Given the description of an element on the screen output the (x, y) to click on. 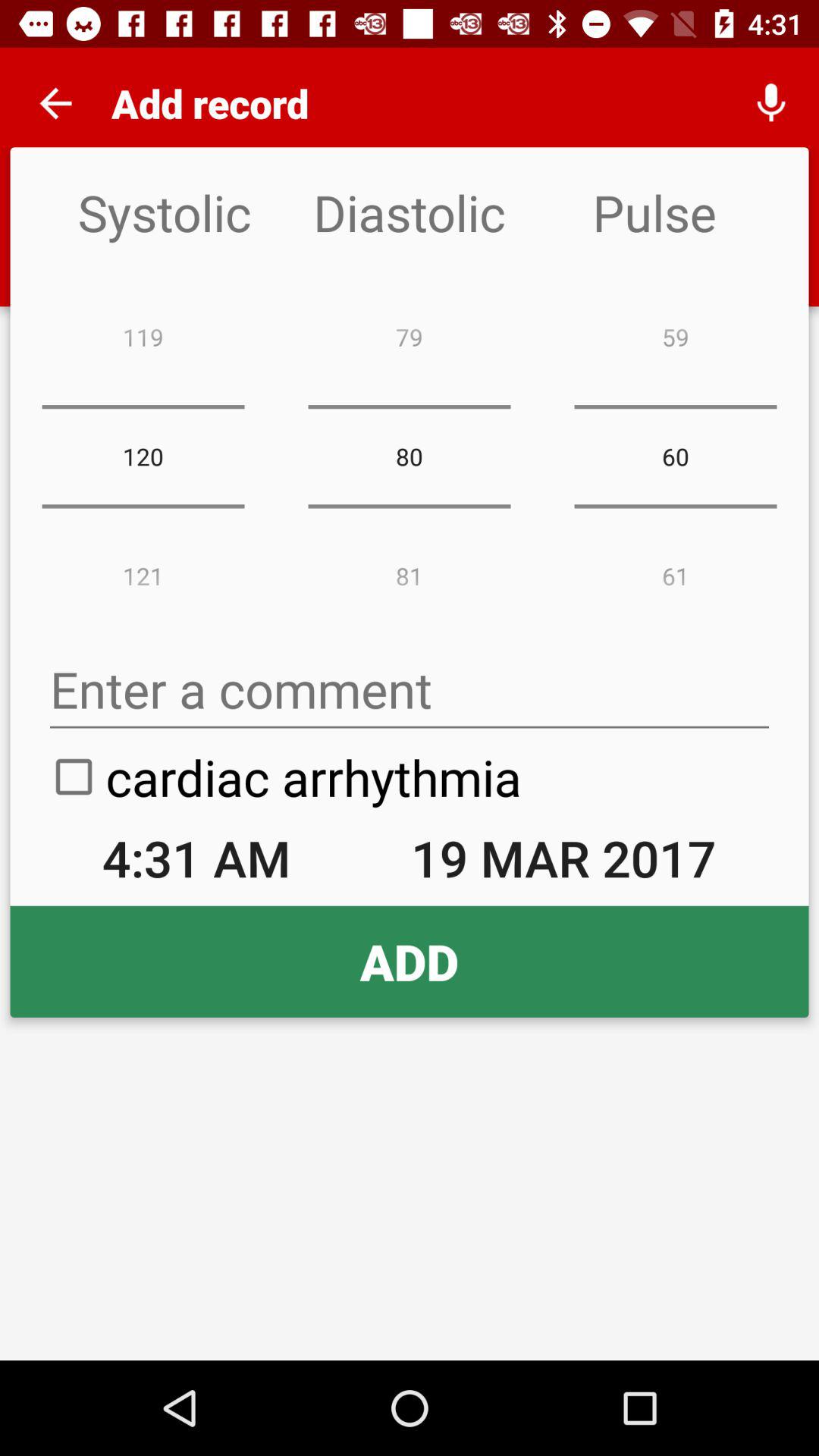
go to comment (409, 689)
